Given the description of an element on the screen output the (x, y) to click on. 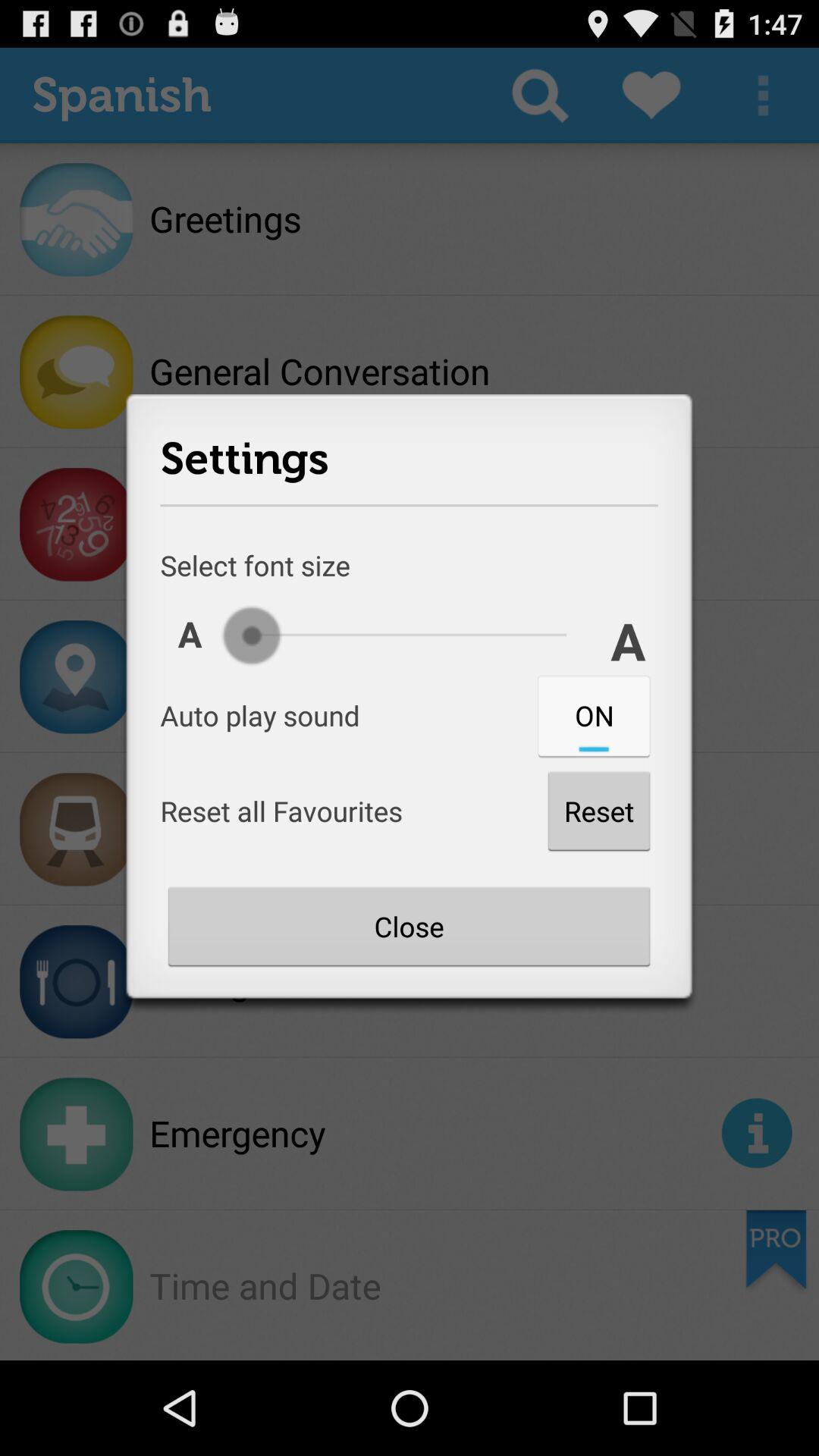
tap button below the reset item (409, 926)
